Given the description of an element on the screen output the (x, y) to click on. 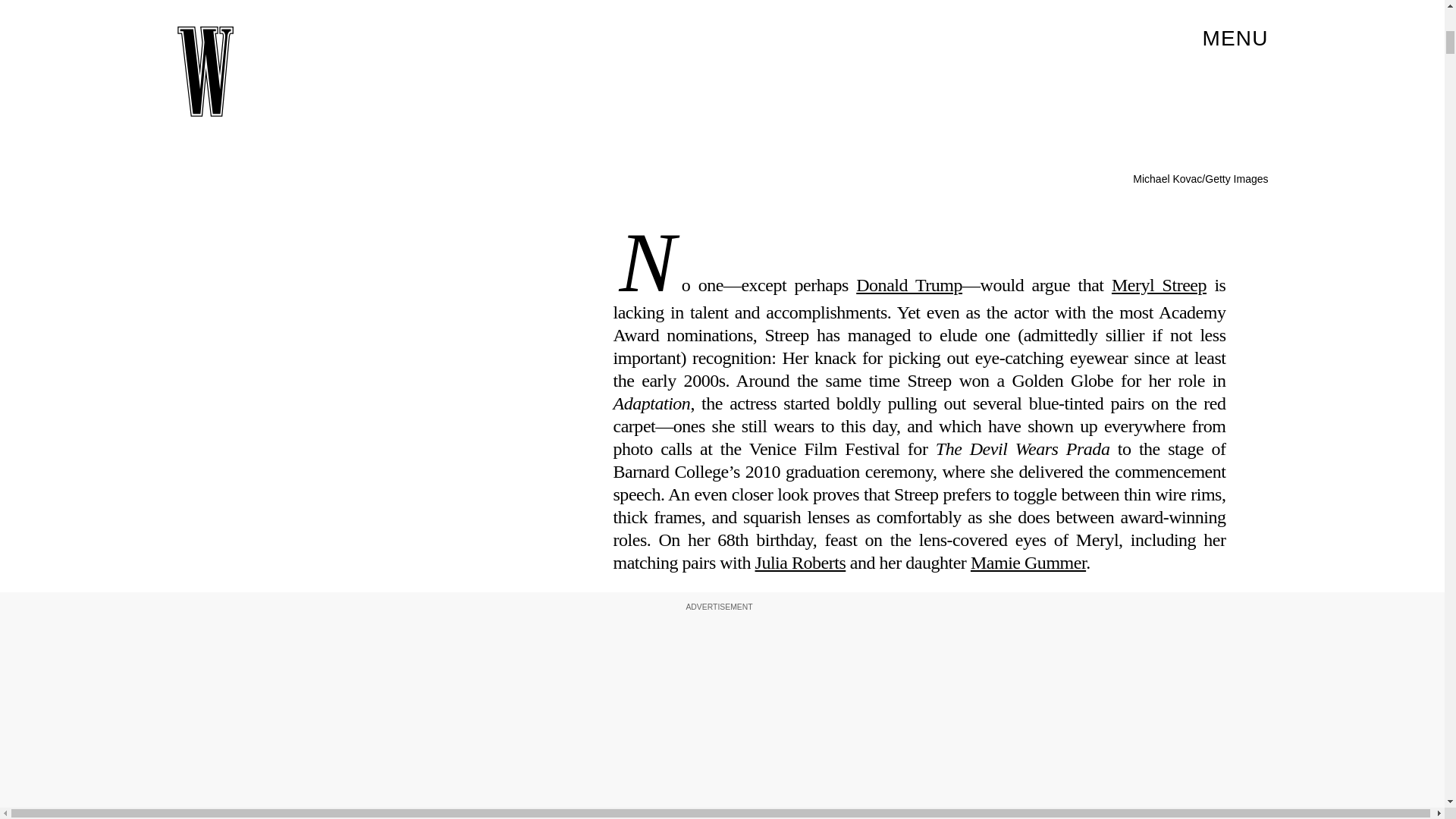
Meryl Streep (1159, 284)
Donald Trump (909, 284)
Julia Roberts (800, 562)
Mamie Gummer (1028, 562)
